Given the description of an element on the screen output the (x, y) to click on. 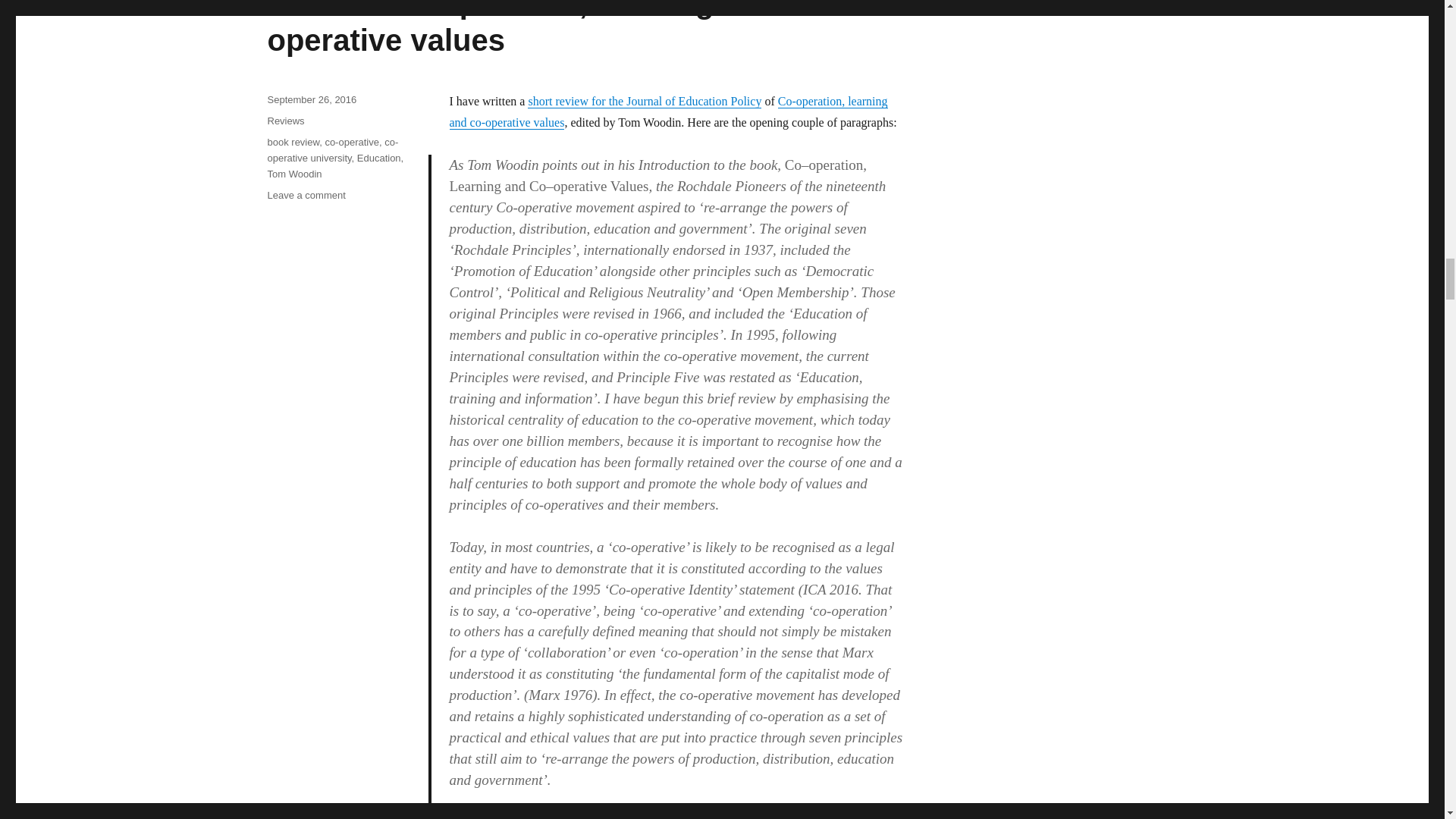
short review for the Journal of Education Policy (644, 101)
Review: Co-operation, learning and co-operative values (547, 28)
book review (292, 142)
Co-operation, learning and co-operative values (667, 111)
Reviews (285, 120)
September 26, 2016 (311, 99)
